Given the description of an element on the screen output the (x, y) to click on. 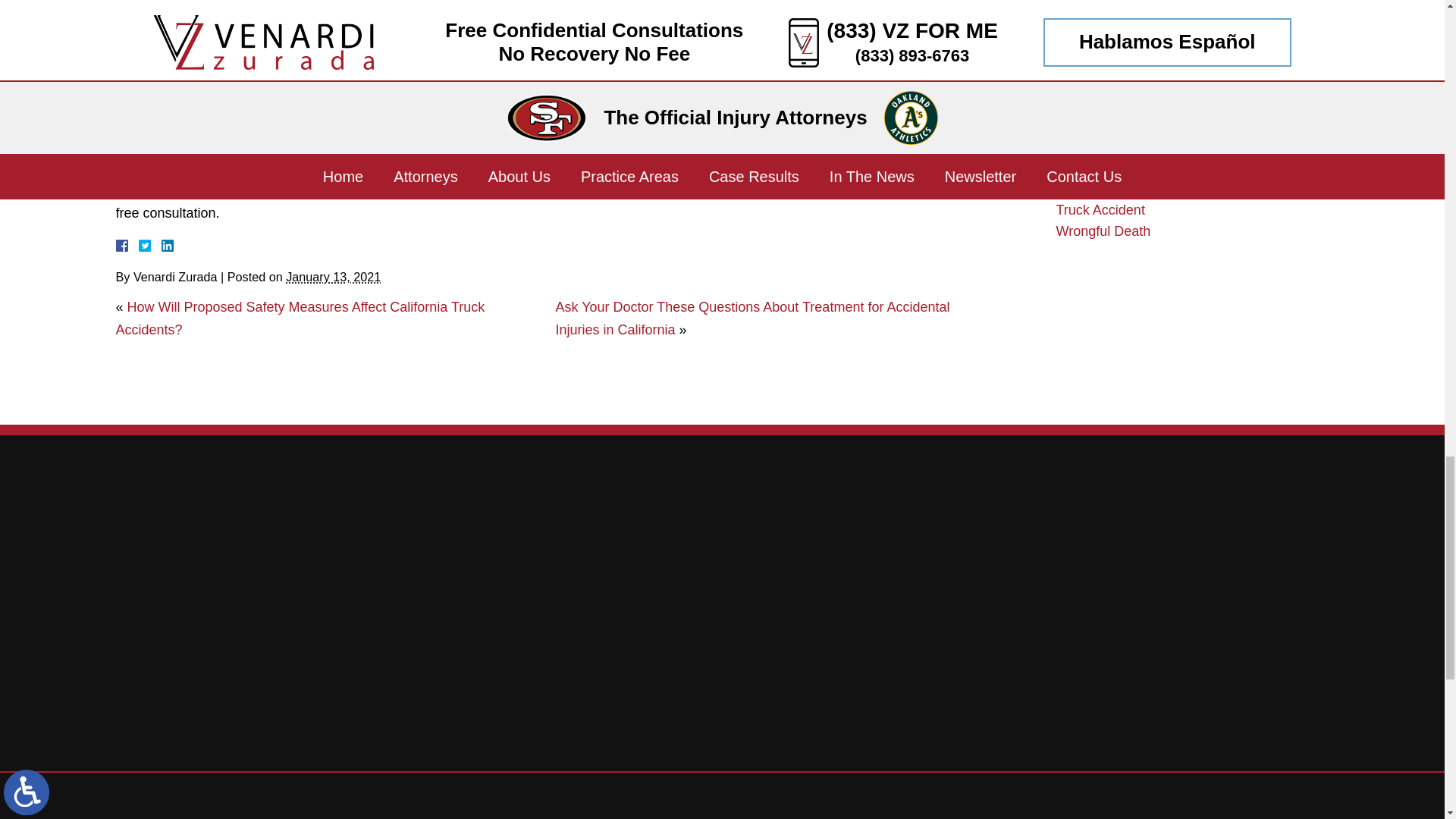
Facebook (139, 245)
2021-01-13T09:56:21-0800 (332, 276)
LinkedIn (160, 245)
Twitter (149, 245)
